Given the description of an element on the screen output the (x, y) to click on. 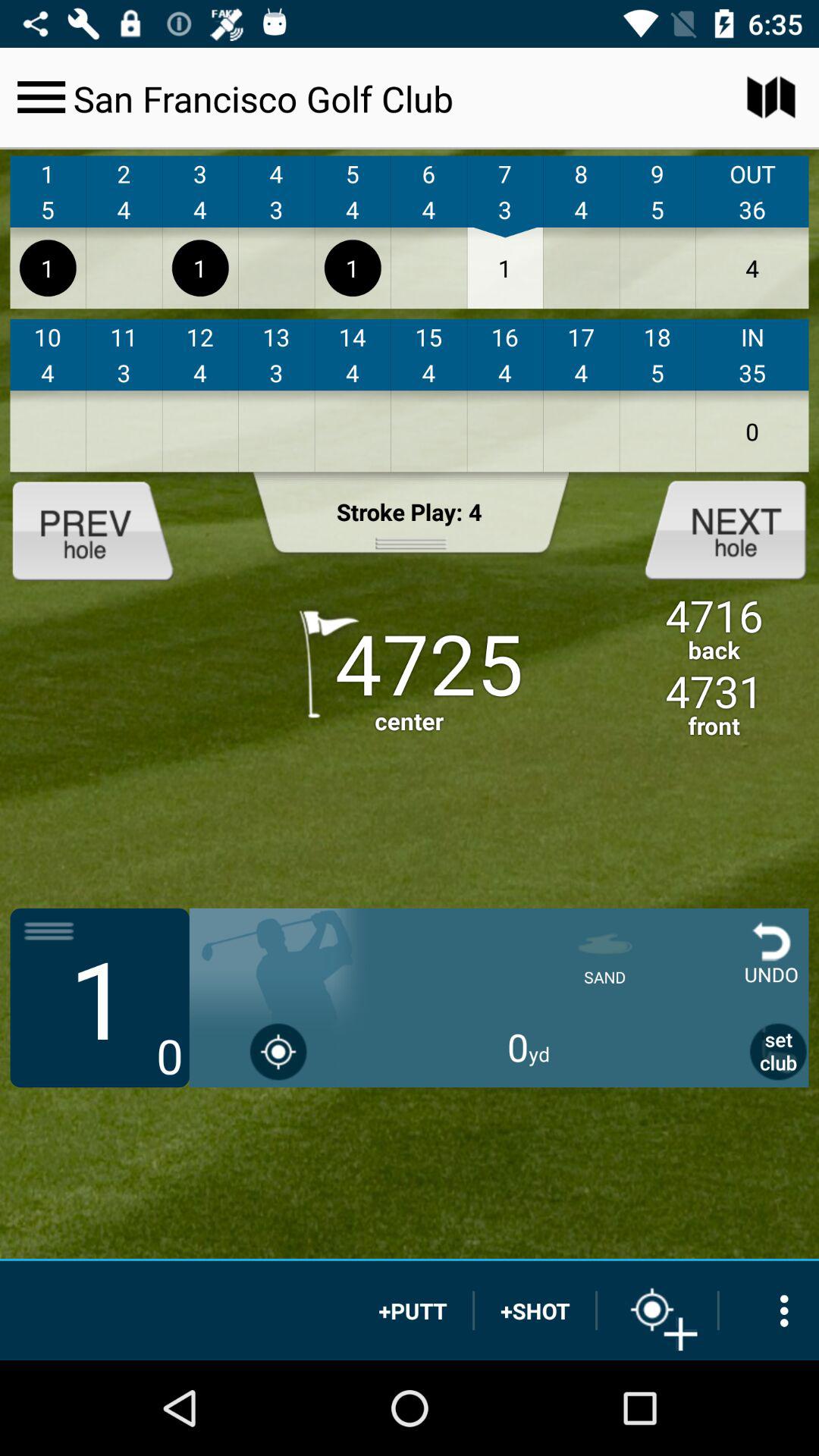
click menu (41, 97)
